Given the description of an element on the screen output the (x, y) to click on. 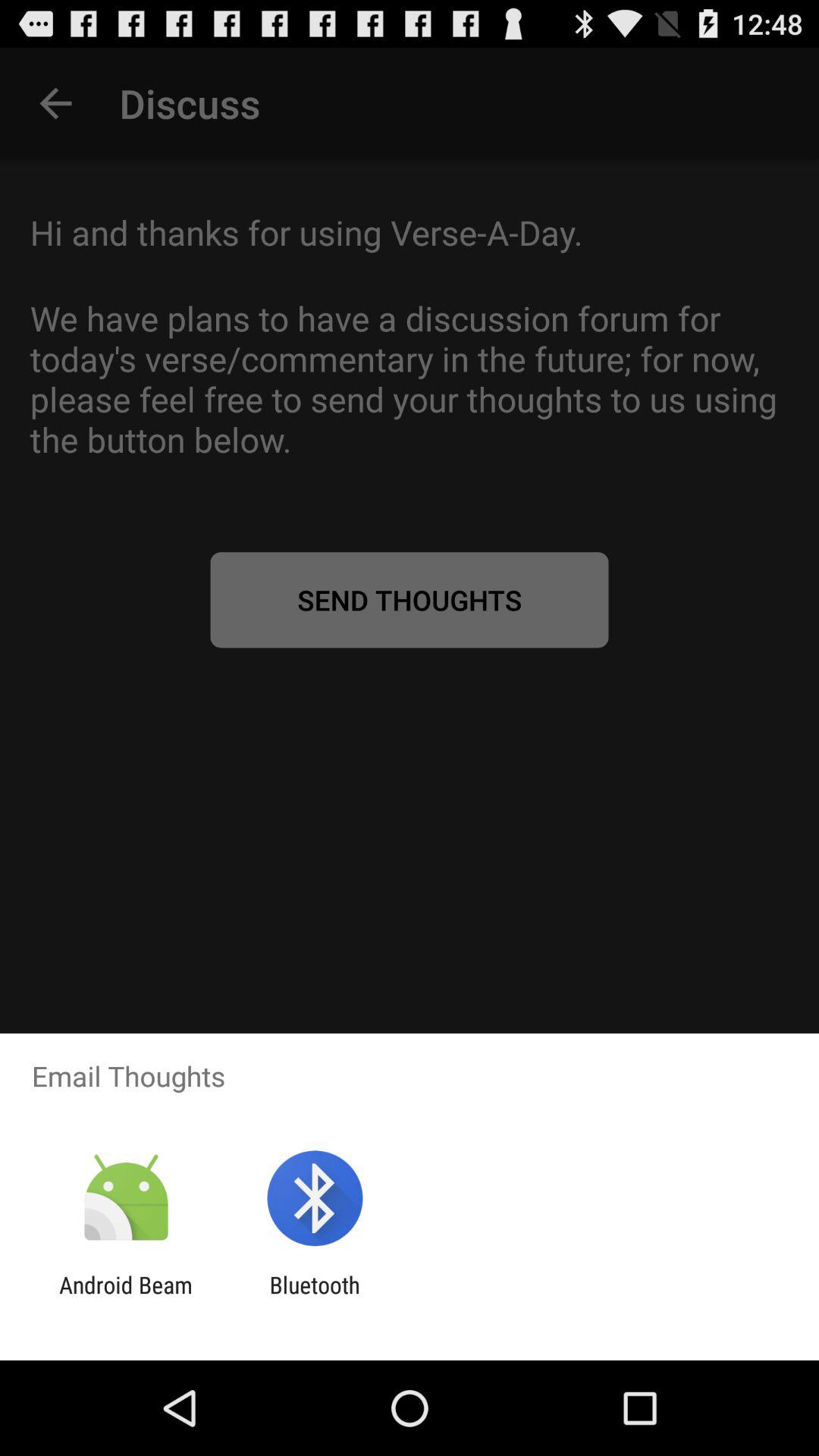
choose icon to the left of bluetooth icon (125, 1298)
